Given the description of an element on the screen output the (x, y) to click on. 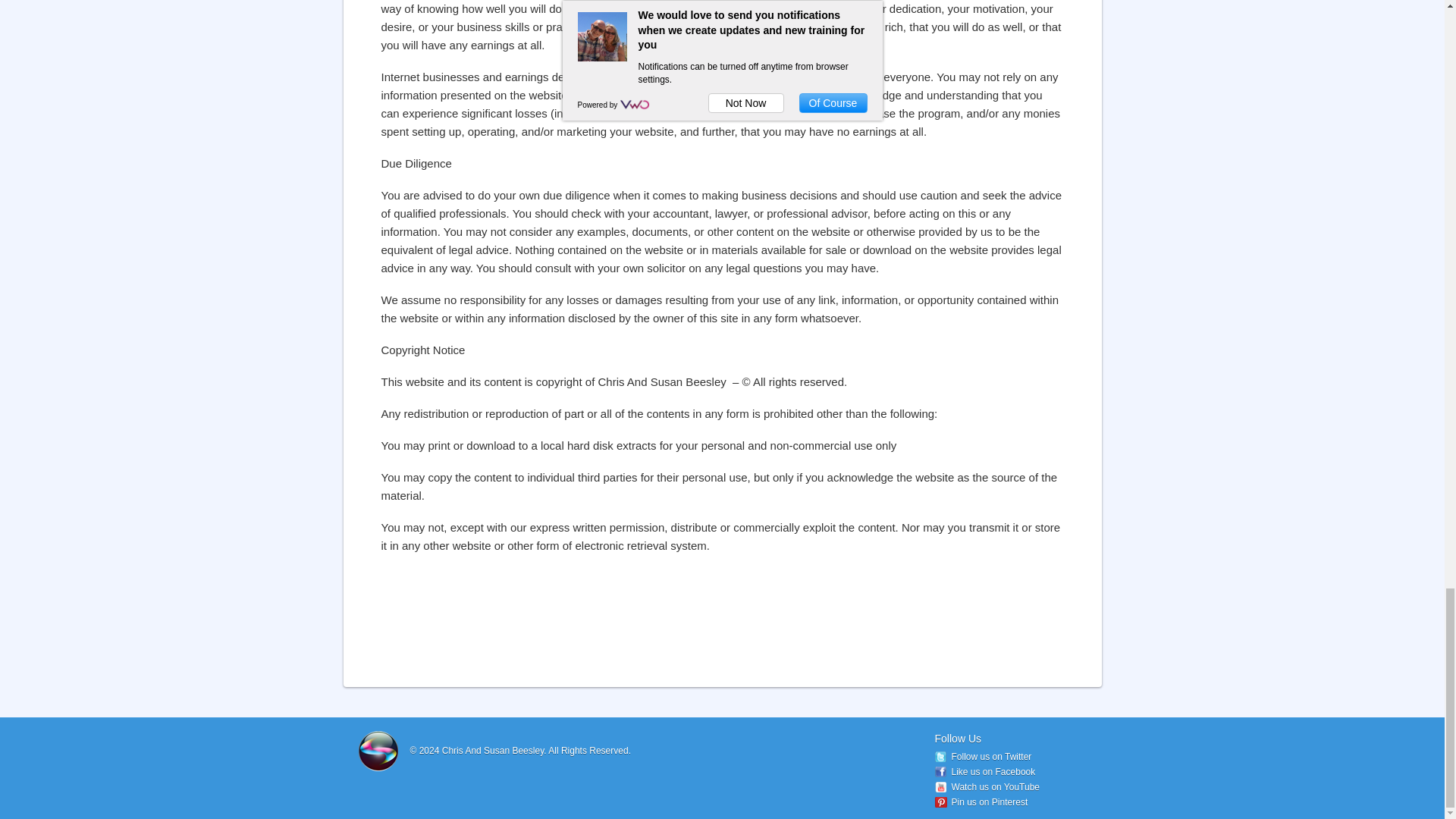
Watch us on YouTube (986, 787)
Chris And Susan Beesley (495, 750)
Chris And Susan Beesley. (495, 750)
Like us on Facebook (984, 771)
Pin us on Pinterest (980, 801)
Follow us on Twitter (982, 756)
